Given the description of an element on the screen output the (x, y) to click on. 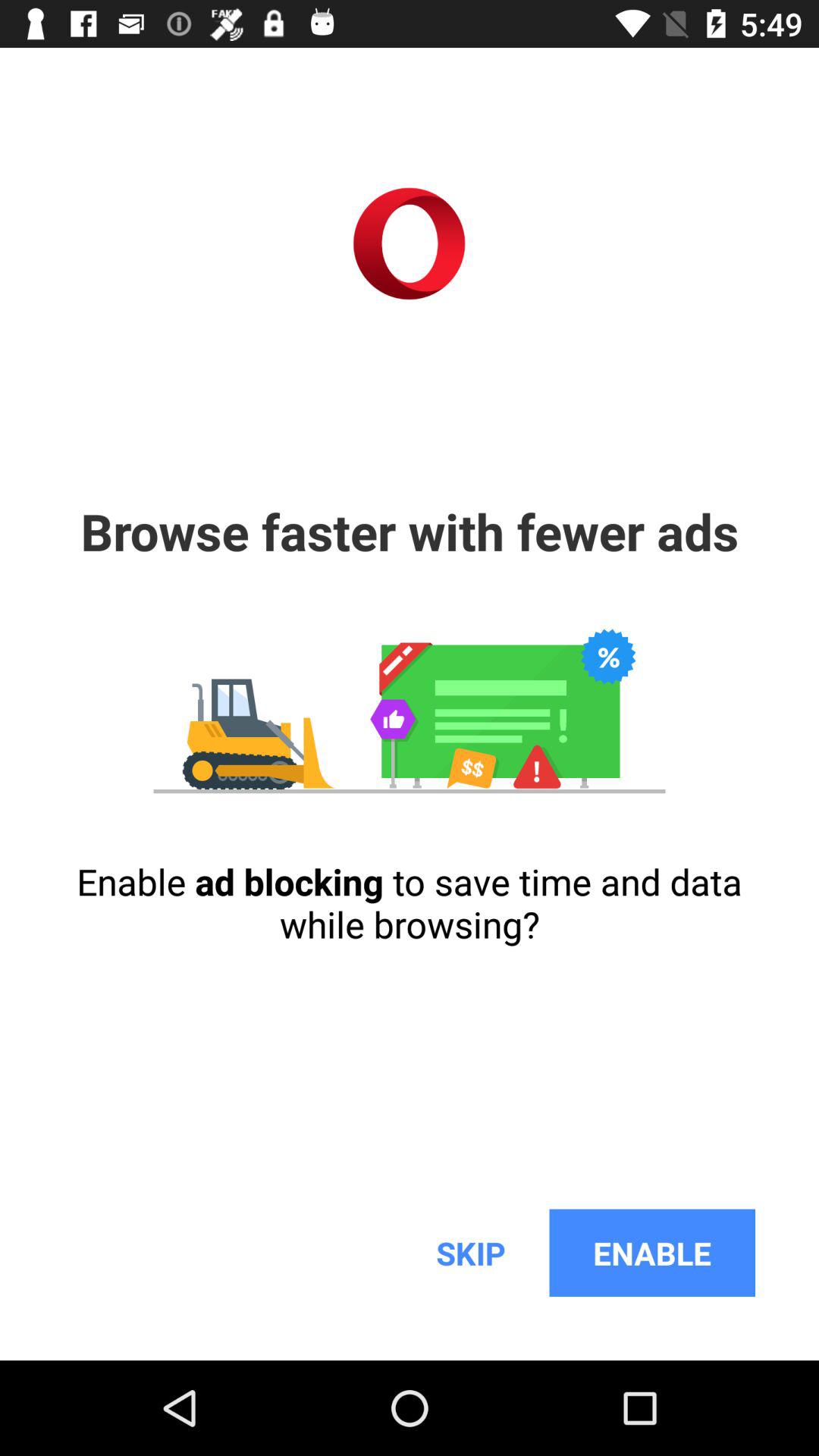
press the icon to the left of enable icon (470, 1252)
